Given the description of an element on the screen output the (x, y) to click on. 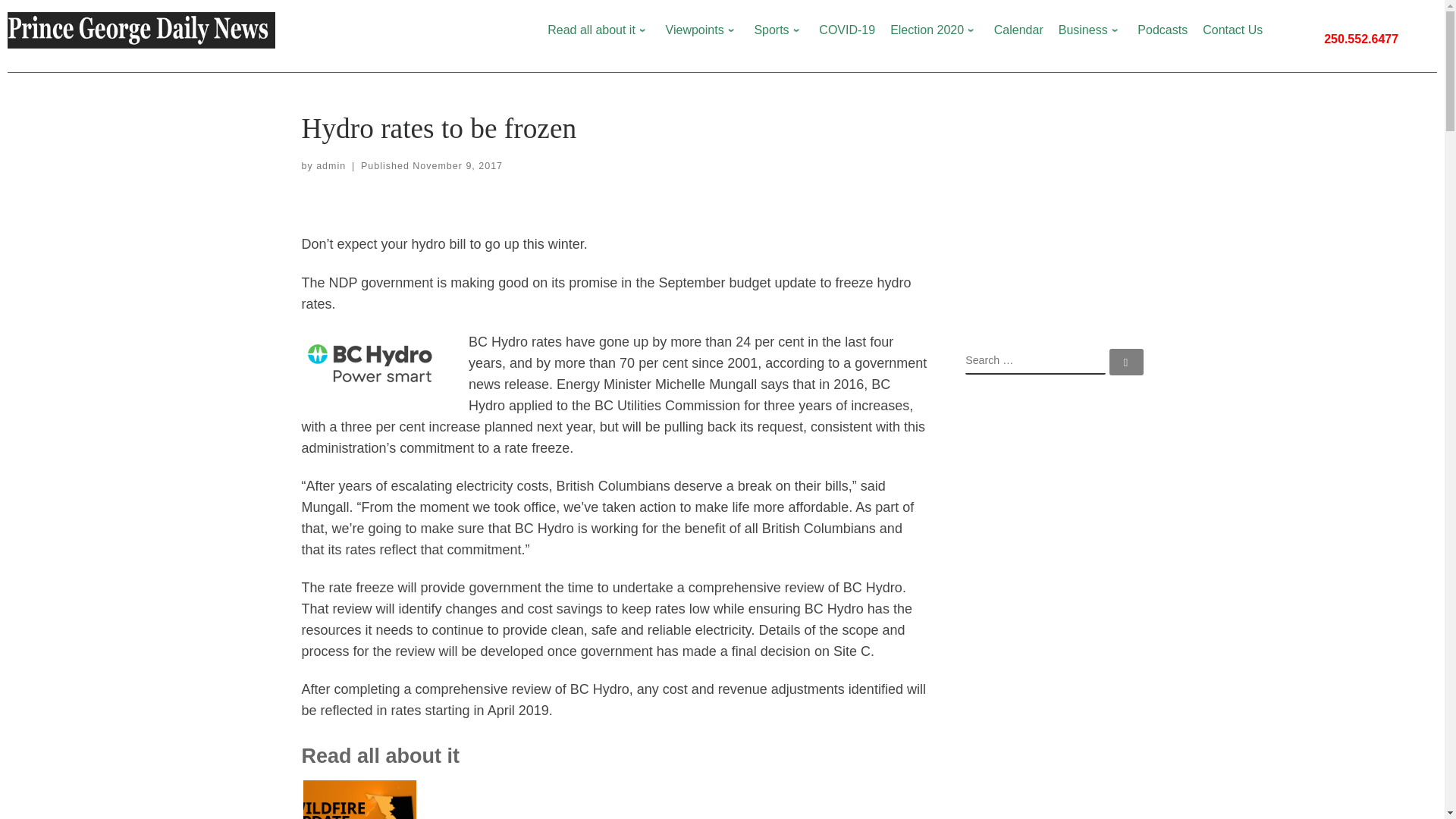
6:06 am (457, 165)
Sports (778, 30)
admin (330, 165)
Viewpoints (702, 30)
COVID-19 (847, 30)
Read all about it (598, 30)
Calendar (1018, 30)
Masthead 4 (141, 30)
Election 2020 (934, 30)
Contact Us (1232, 30)
November 9, 2017 (457, 165)
Business (1090, 30)
View all posts by admin (330, 165)
Podcasts (1162, 30)
